Given the description of an element on the screen output the (x, y) to click on. 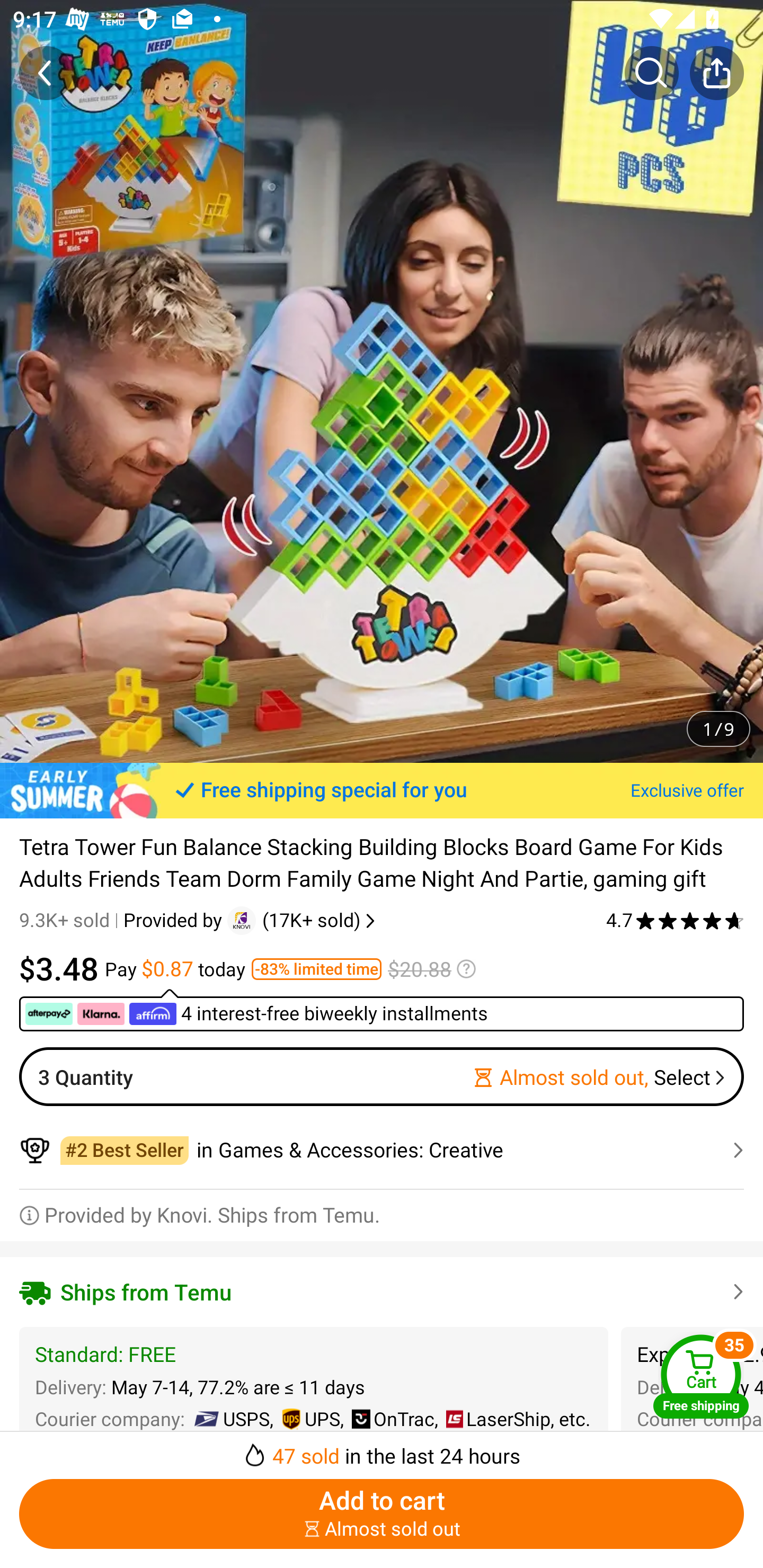
Back (46, 72)
Share (716, 72)
Free shipping special for you Exclusive offer (381, 790)
9.3K+ sold Provided by  (123, 920)
4.7 (674, 920)
￼ ￼ ￼ 4 interest-free biweekly installments (381, 1009)
￼ ￼ ￼ 4 interest-free biweekly installments (257, 1014)
3 Quantity   Almost sold out, Select (381, 1076)
￼￼in Games & Accessories: Creative (381, 1149)
Ships from Temu (381, 1291)
Cart Free shipping Cart (701, 1375)
￼￼47 sold in the last 24 hours (381, 1450)
Add to cart ￼￼Almost sold out (381, 1513)
